Given the description of an element on the screen output the (x, y) to click on. 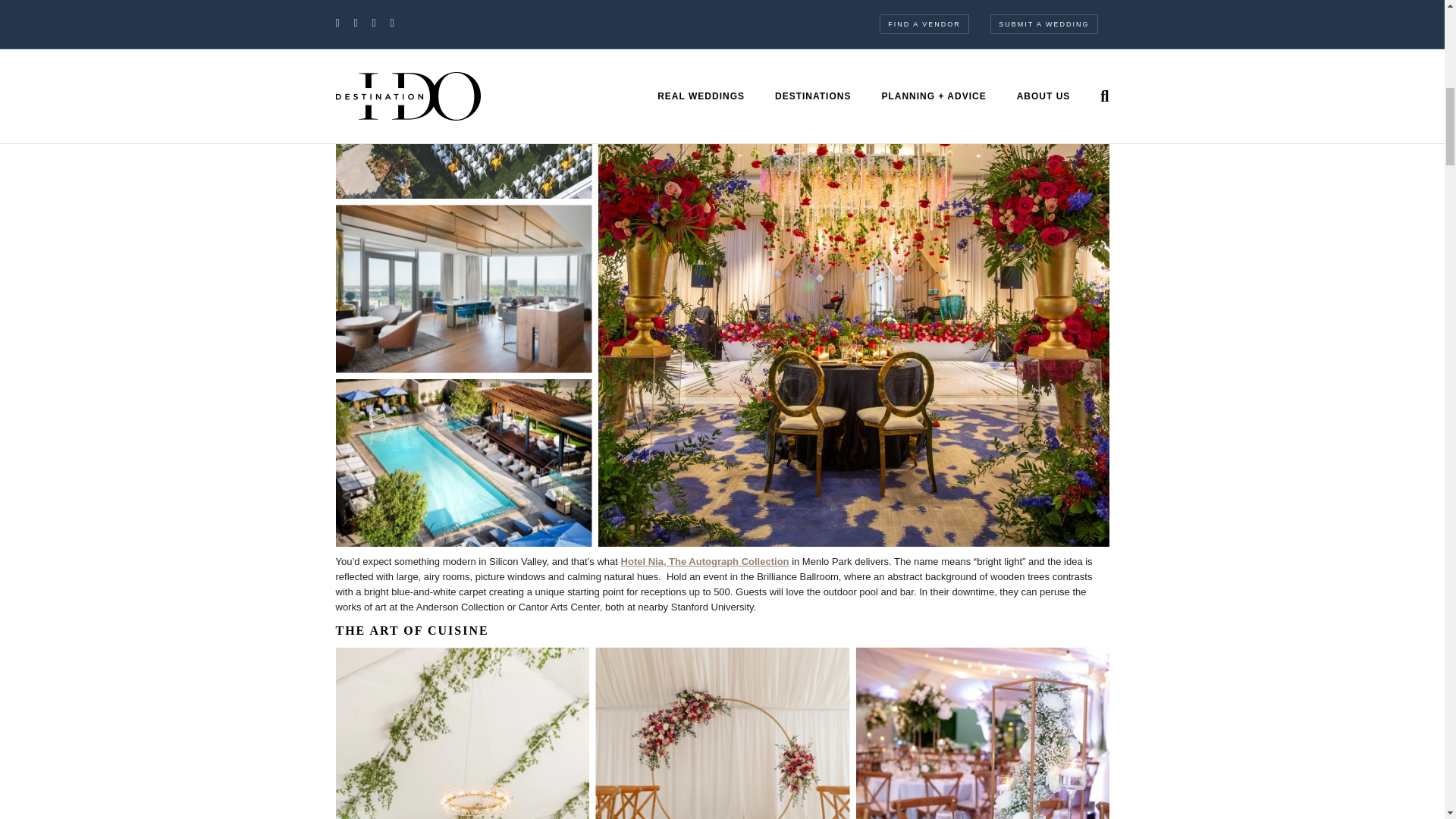
Hotel Nia, The Autograph Collection (705, 561)
